Given the description of an element on the screen output the (x, y) to click on. 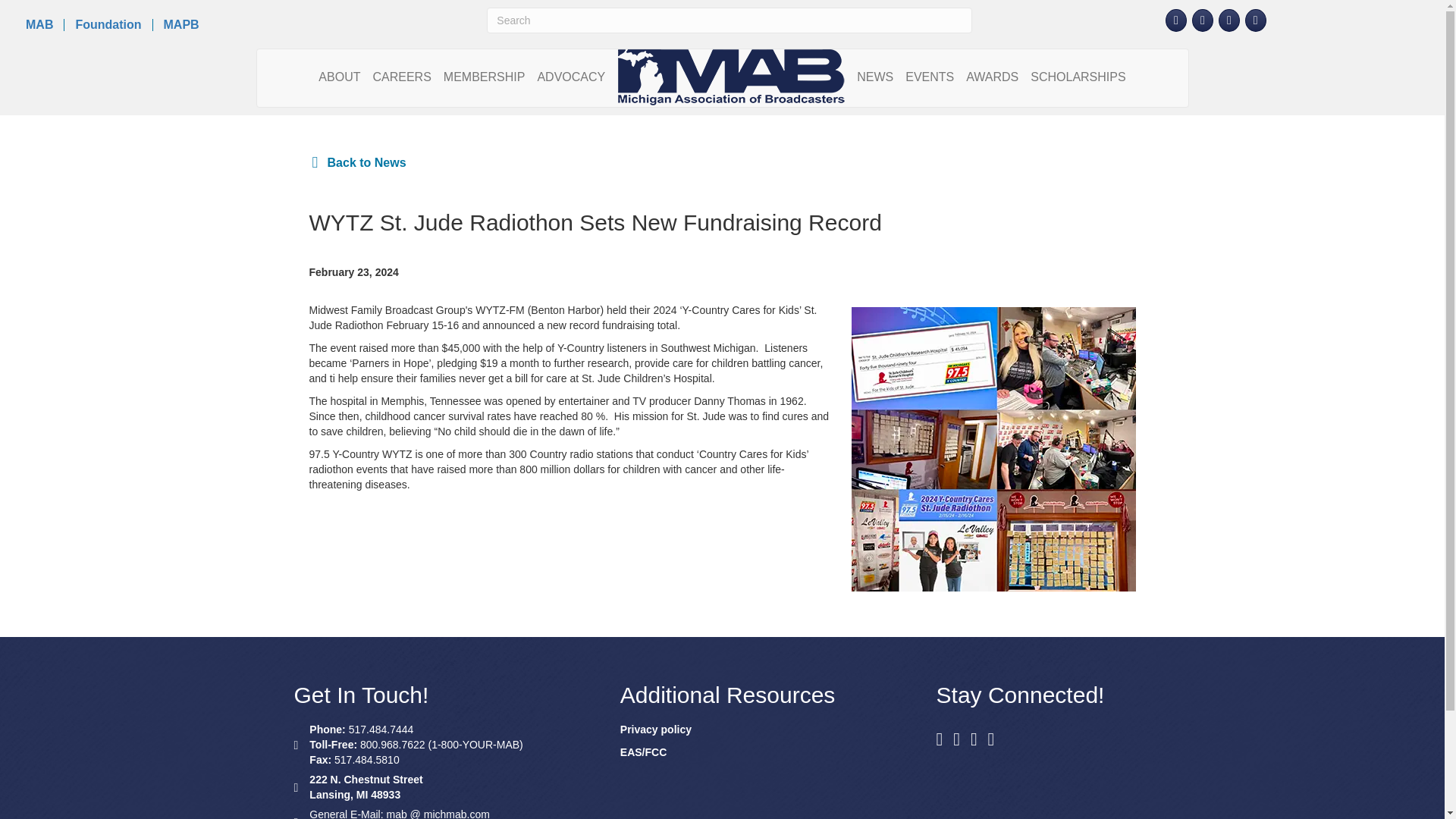
Type and press Enter to search. (728, 20)
